Given the description of an element on the screen output the (x, y) to click on. 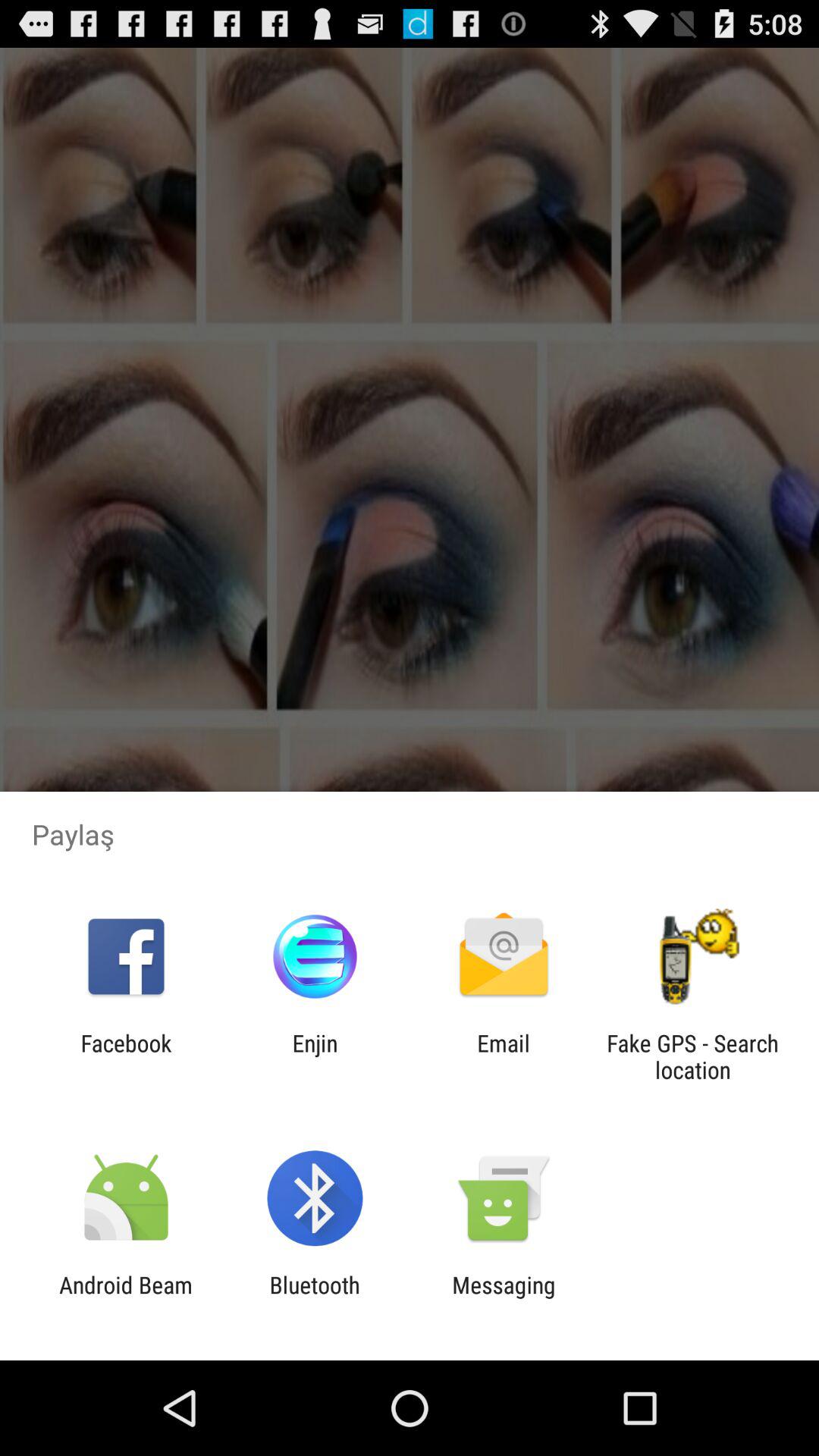
click icon next to the email icon (314, 1056)
